Given the description of an element on the screen output the (x, y) to click on. 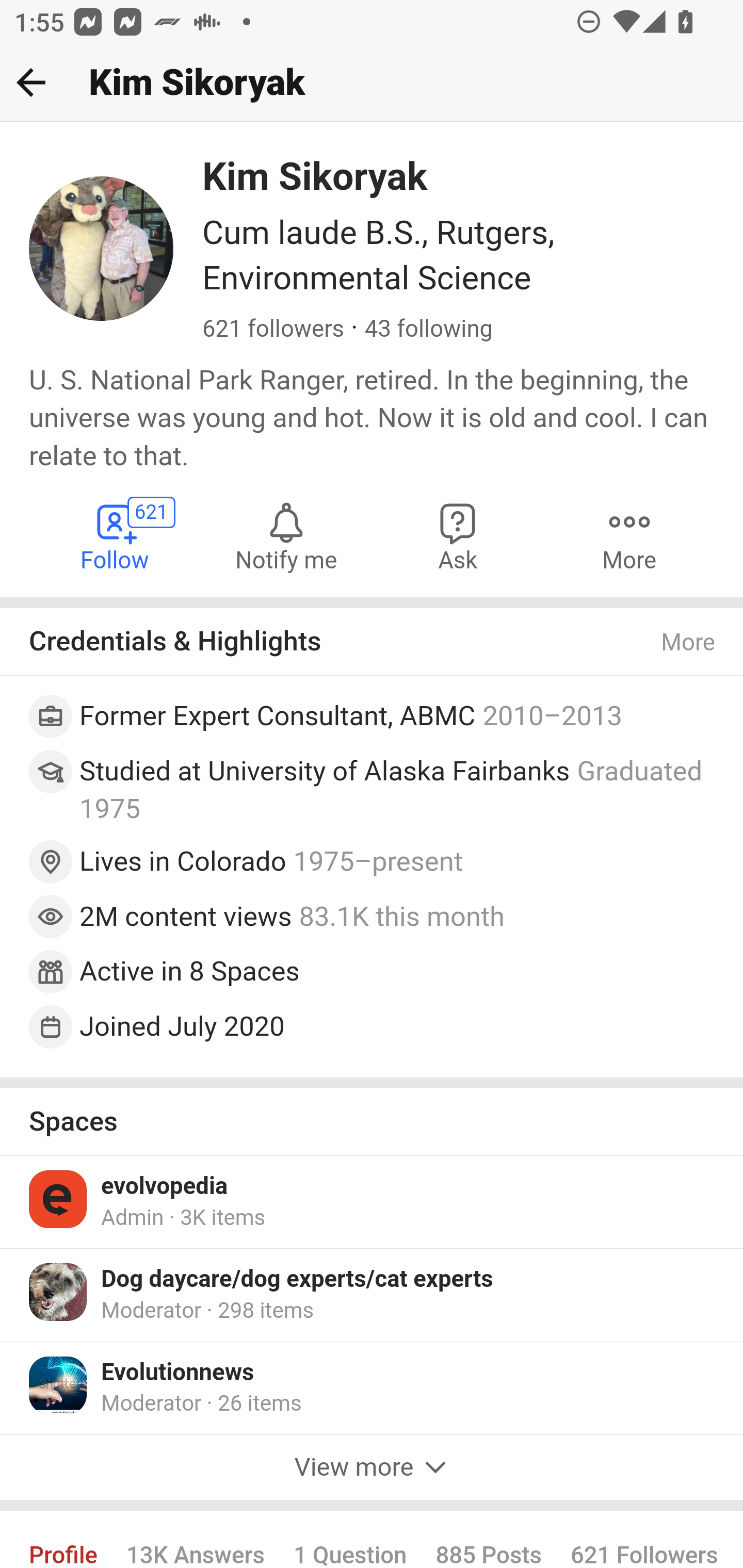
Back (30, 82)
621 followers (273, 329)
43 following (428, 329)
Follow Kim Sikoryak 621 Follow (115, 536)
Notify me (285, 536)
Ask (458, 536)
More (628, 536)
More (688, 642)
Icon for evolvopedia (58, 1199)
evolvopedia (164, 1186)
Icon for Dog daycare/dog experts/cat experts (58, 1291)
Dog daycare/dog experts/cat experts (297, 1279)
Icon for Evolutionnews (58, 1384)
Evolutionnews (177, 1372)
View more (371, 1466)
Profile (63, 1538)
13K Answers (194, 1538)
1 Question (349, 1538)
885 Posts (488, 1538)
621 Followers (643, 1538)
